Given the description of an element on the screen output the (x, y) to click on. 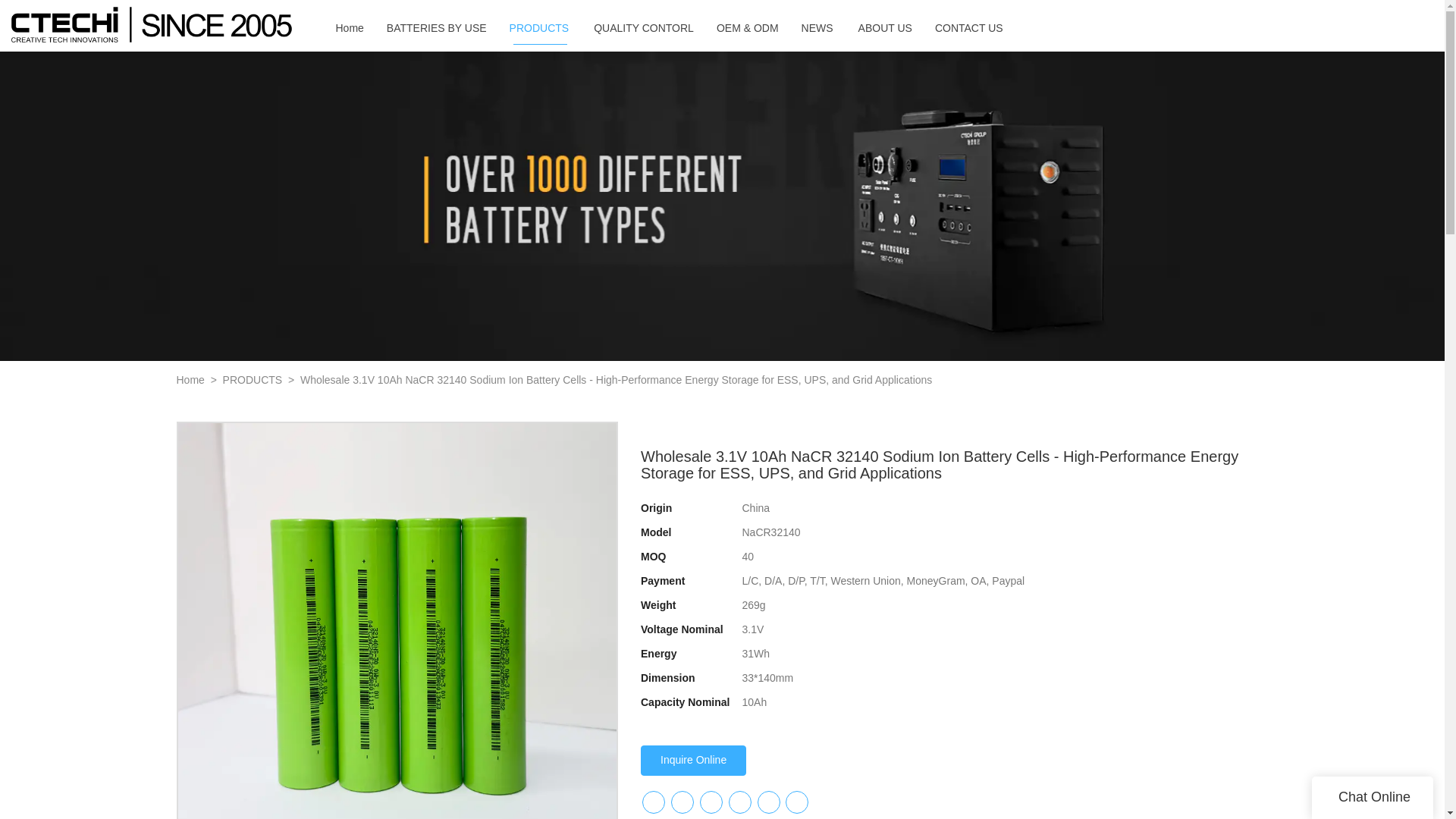
Home (349, 18)
PRODUCTS (540, 24)
BATTERIES BY USE (436, 22)
